Given the description of an element on the screen output the (x, y) to click on. 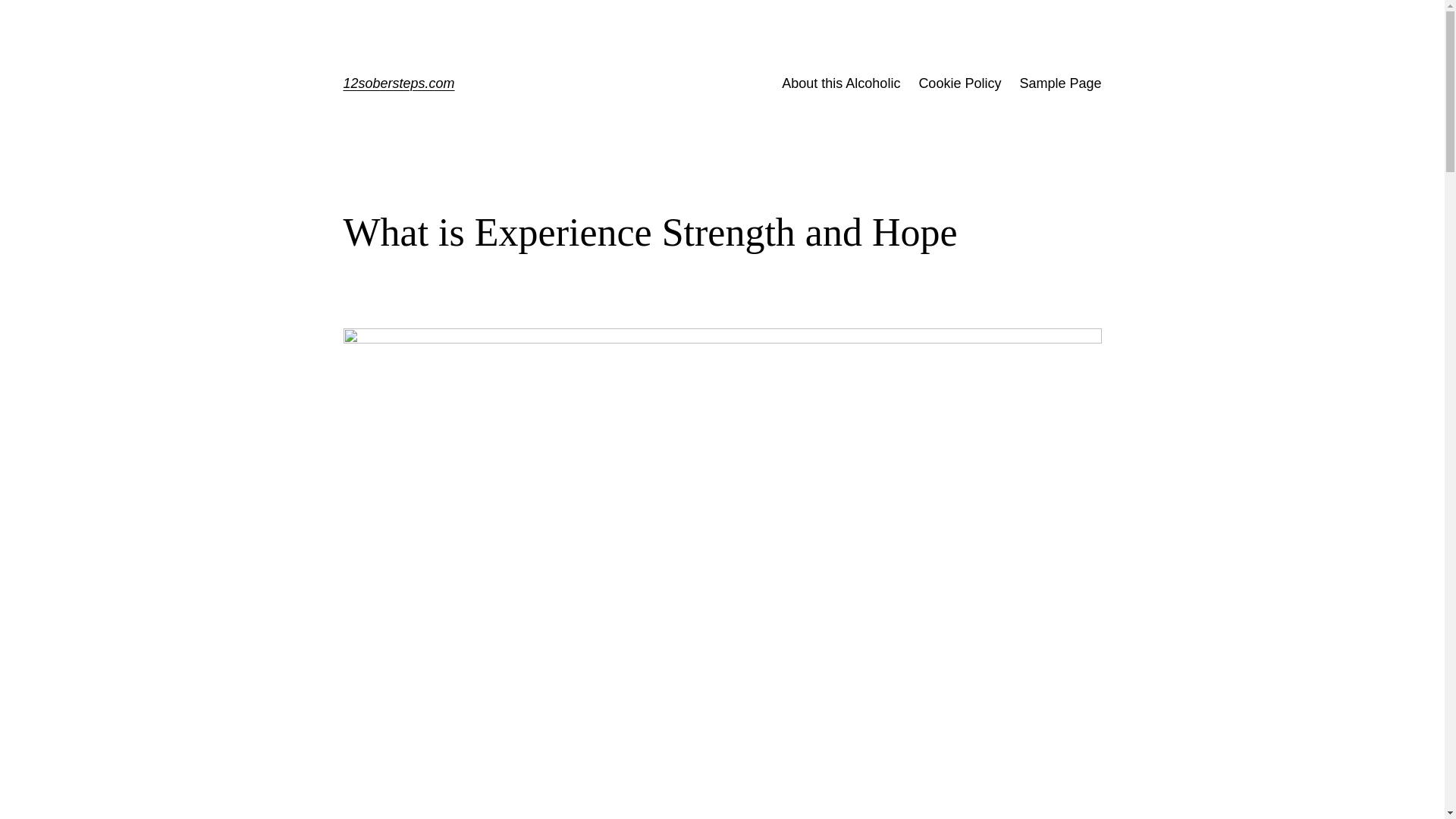
Sample Page Element type: text (1060, 83)
About this Alcoholic Element type: text (840, 83)
12sobersteps.com Element type: text (398, 83)
Cookie Policy Element type: text (959, 83)
